Given the description of an element on the screen output the (x, y) to click on. 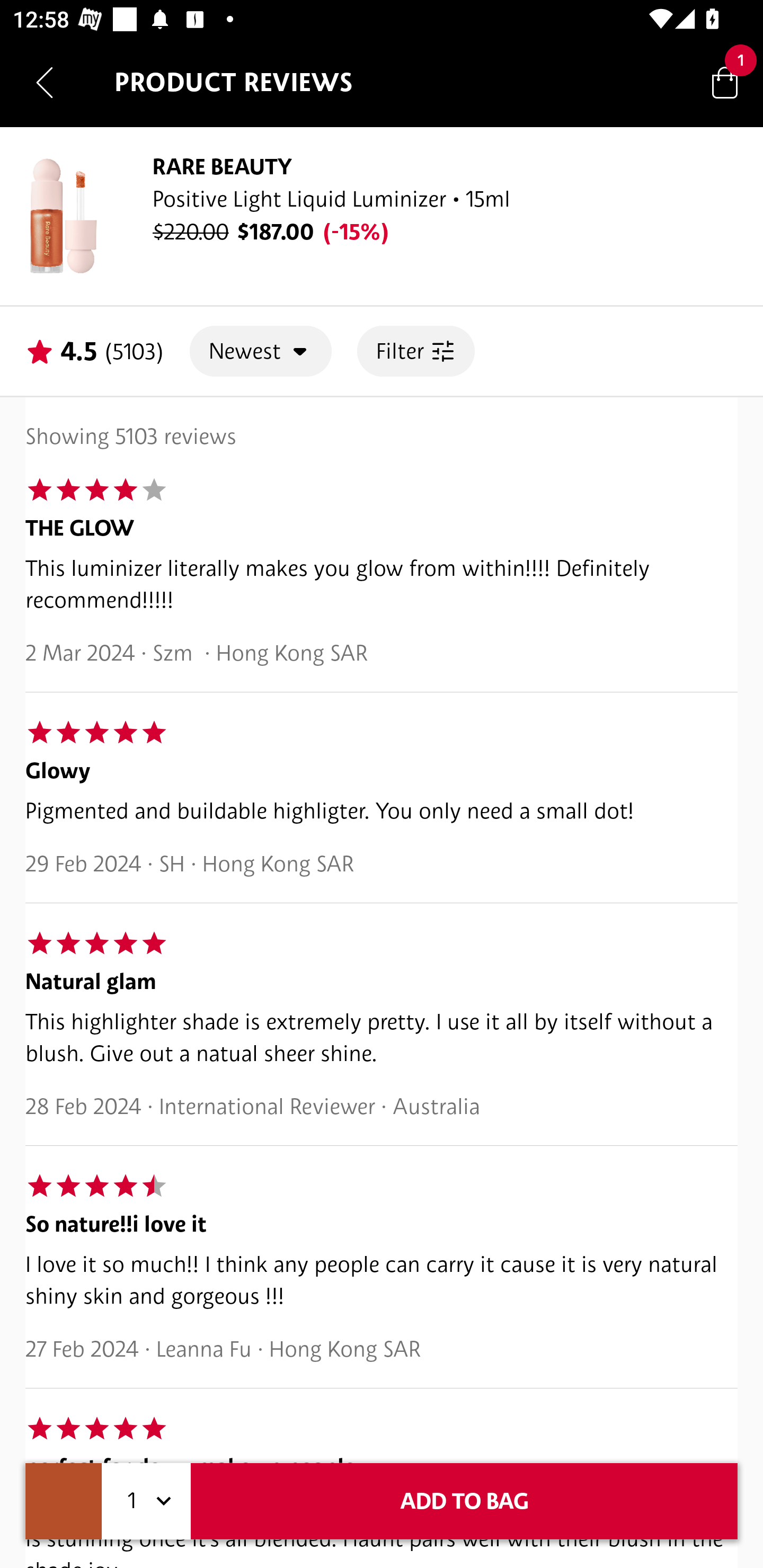
Navigate up (44, 82)
Bag (724, 81)
Newest (260, 351)
Filter (415, 351)
1 (145, 1500)
ADD TO BAG (463, 1500)
